Given the description of an element on the screen output the (x, y) to click on. 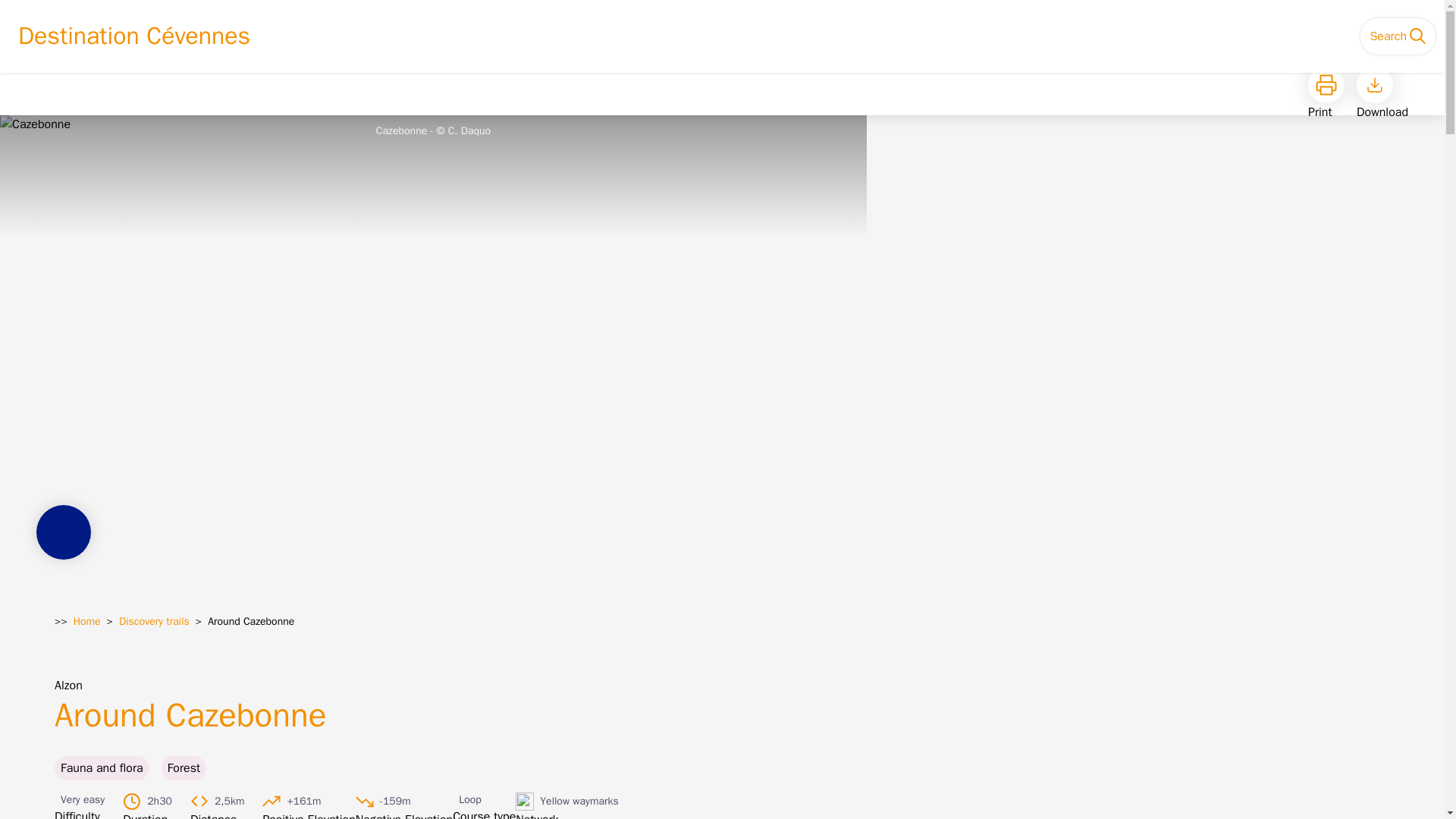
Home (87, 621)
Discovery trails (154, 621)
EN (1324, 36)
Search (1397, 36)
